Given the description of an element on the screen output the (x, y) to click on. 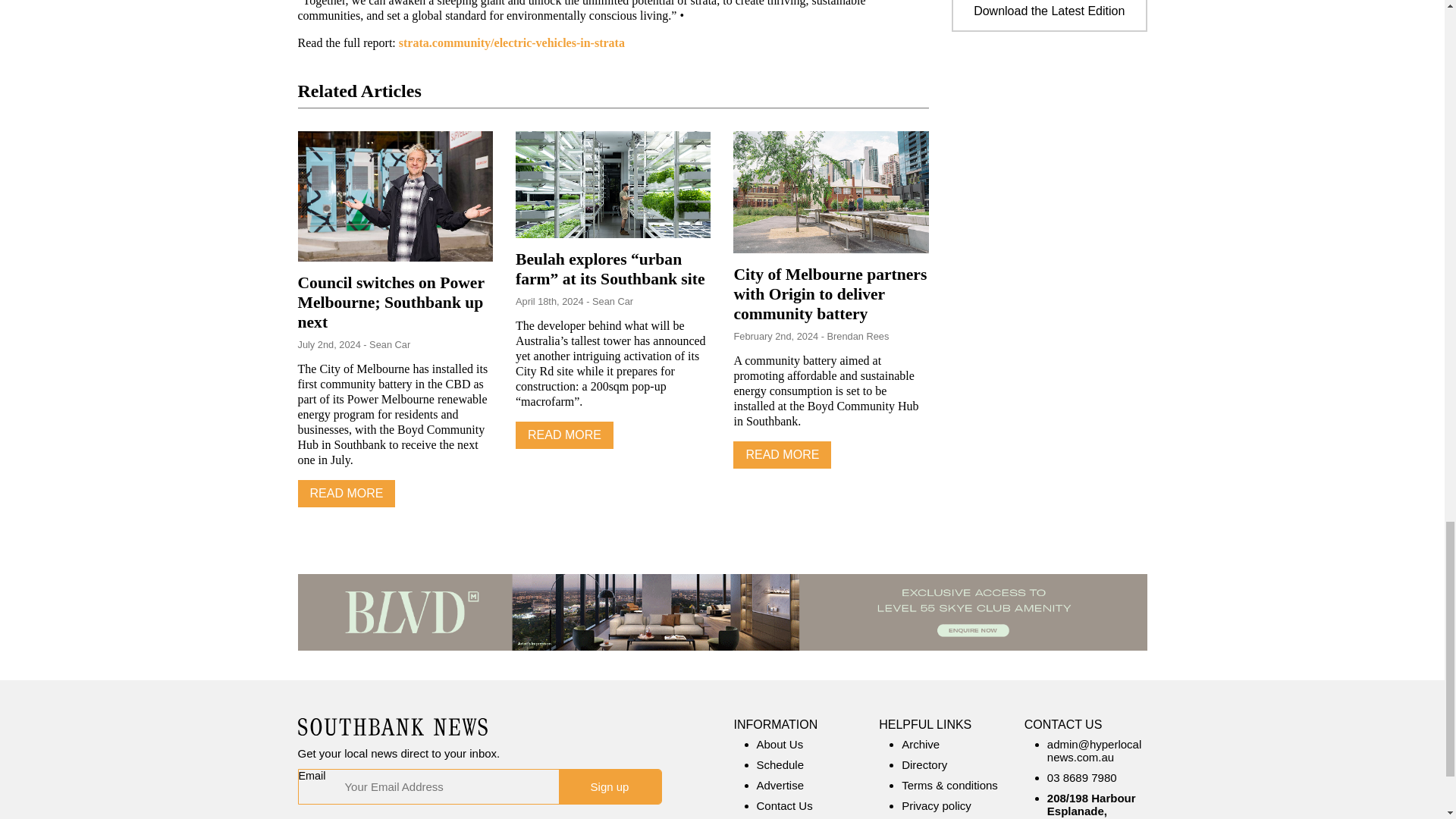
About Us (780, 744)
Council switches on Power Melbourne; Southbank up next (390, 302)
READ MORE (782, 454)
Sign up (609, 786)
READ MORE (345, 492)
Schedule (781, 764)
Advertise (781, 784)
Download the Latest Edition (1048, 9)
READ MORE (563, 434)
